Given the description of an element on the screen output the (x, y) to click on. 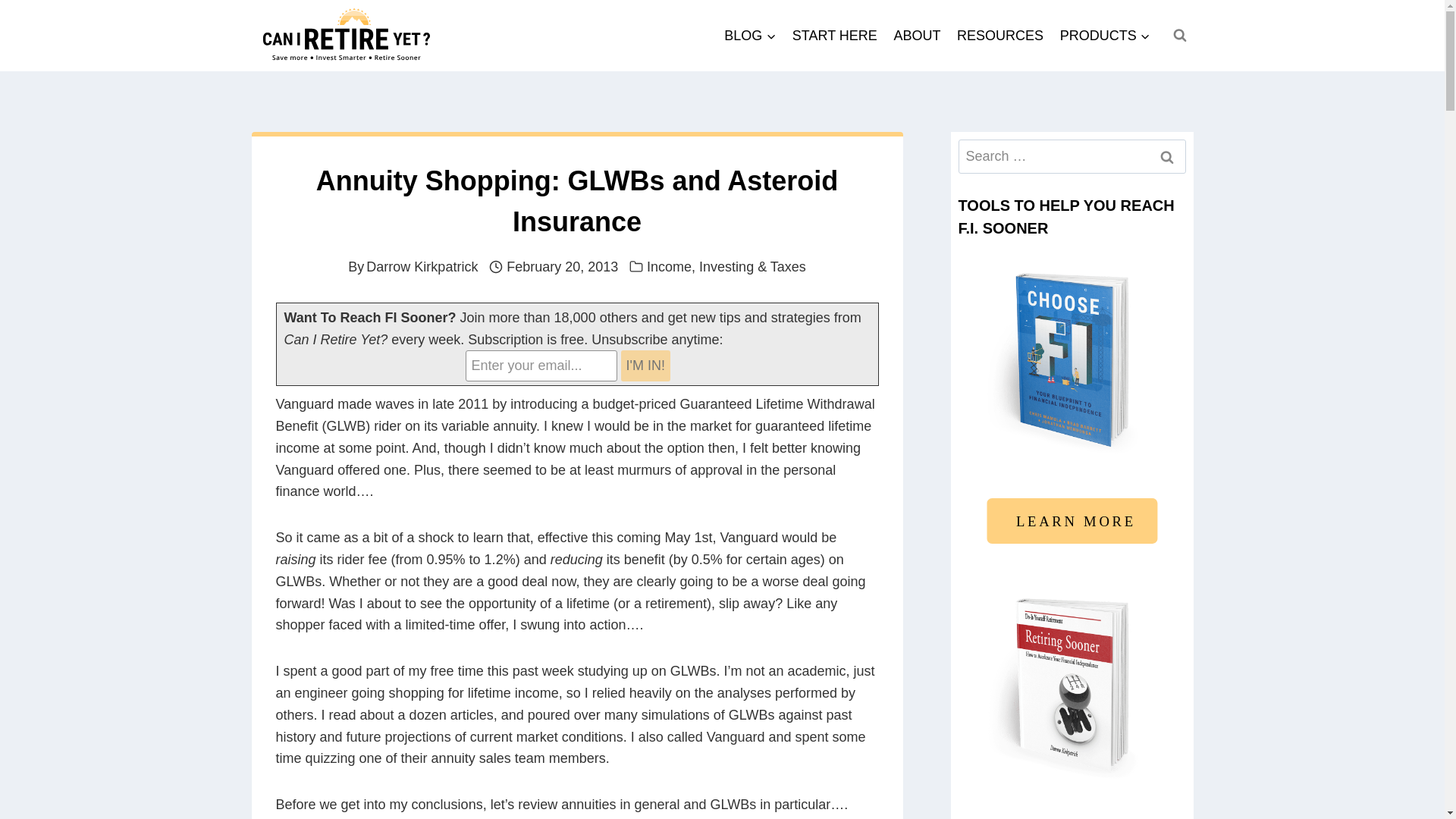
Darrow Kirkpatrick (421, 266)
Search (1167, 156)
RESOURCES (1000, 35)
Enter your email... (541, 365)
I'M IN! (644, 365)
Search (1167, 156)
START HERE (834, 35)
BLOG (750, 35)
ABOUT (917, 35)
I'M IN! (644, 365)
